Given the description of an element on the screen output the (x, y) to click on. 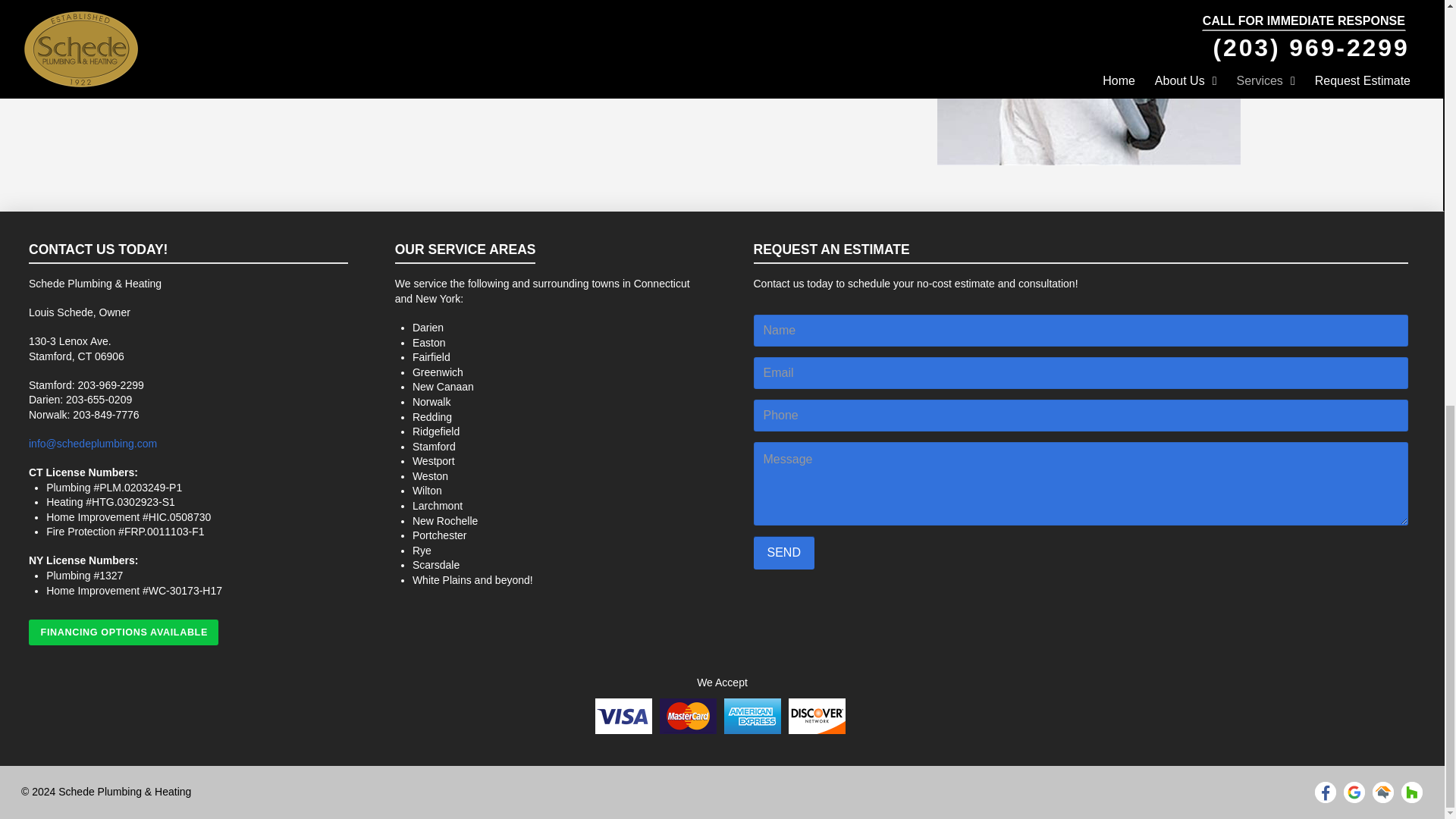
Send (783, 553)
Send (783, 553)
FINANCING OPTIONS AVAILABLE (123, 632)
